Given the description of an element on the screen output the (x, y) to click on. 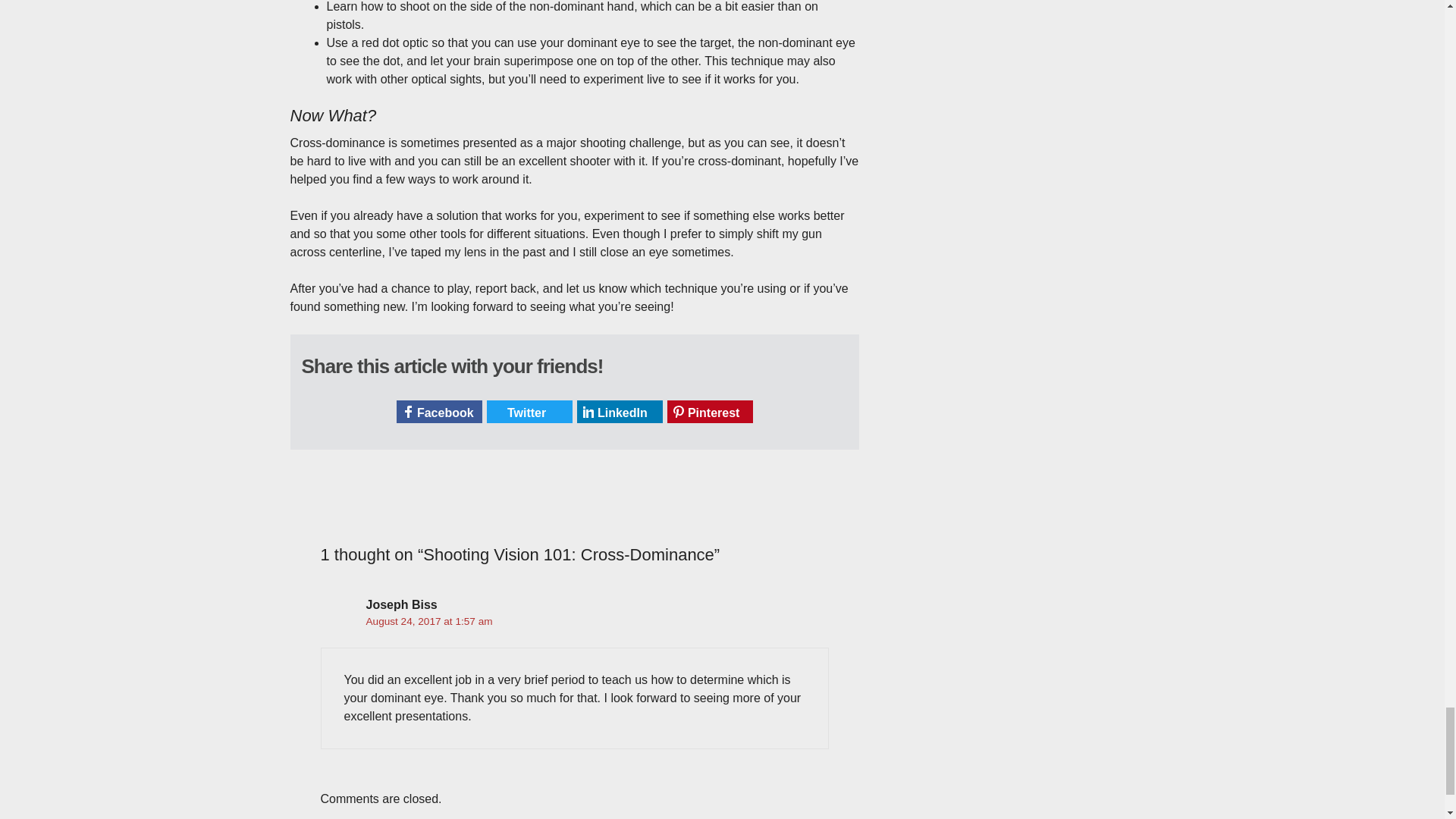
 Facebook (438, 411)
 Twitter (529, 411)
 LinkedIn (619, 411)
August 24, 2017 at 1:57 am (428, 621)
 Pinterest (709, 411)
